Given the description of an element on the screen output the (x, y) to click on. 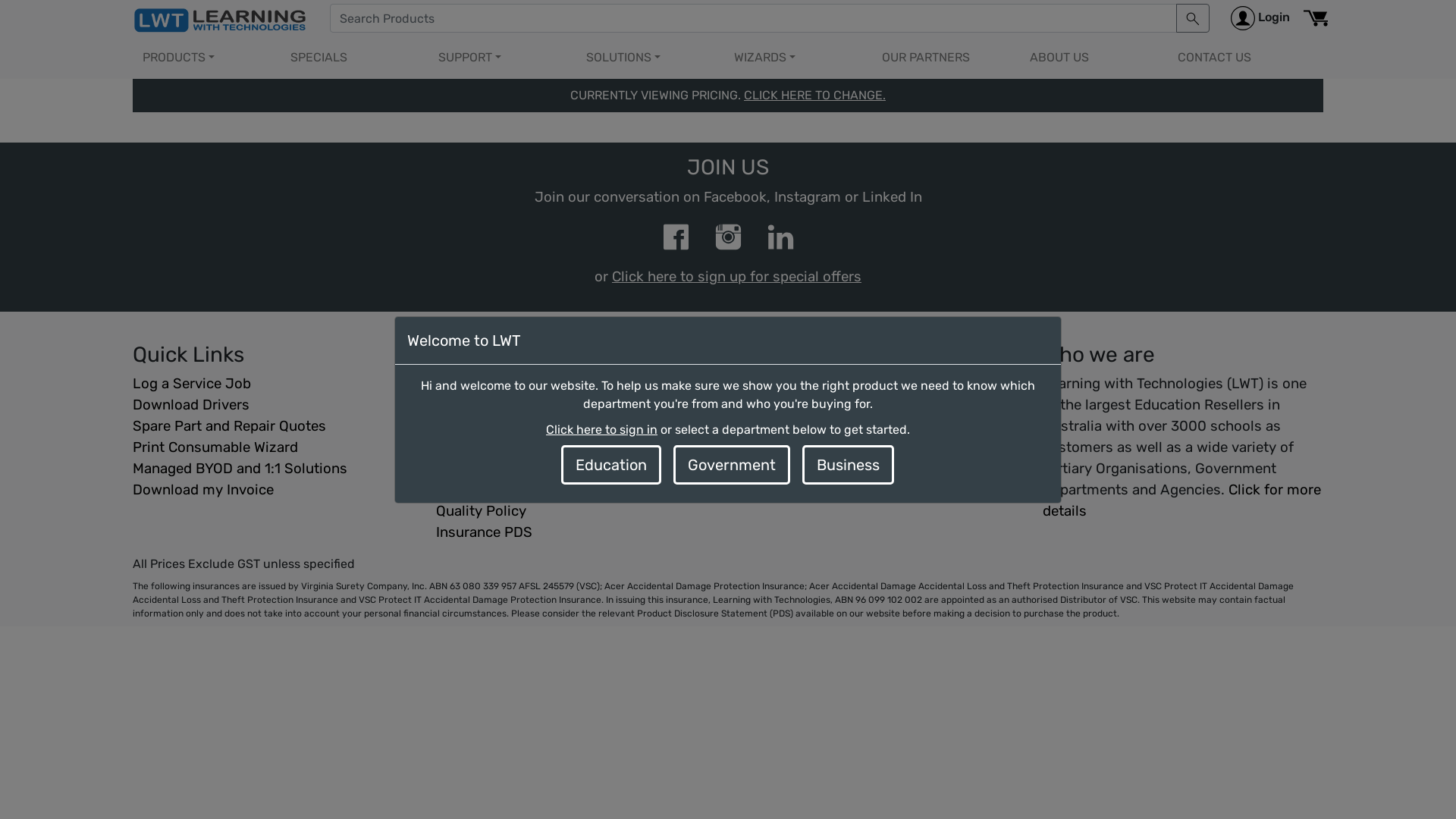
Government Element type: text (731, 463)
Download my Invoice Element type: text (272, 489)
Print Consumable Wizard Element type: text (272, 447)
OUR PARTNERS Element type: text (943, 57)
Insurance PDS Element type: text (576, 531)
WIZARDS Element type: text (795, 57)
Delivery Policy Element type: text (576, 425)
ABOUT US Element type: text (1091, 57)
SPECIALS Element type: text (352, 57)
Returns Policy Element type: text (576, 383)
Education Element type: text (611, 463)
Click for more details Element type: text (1181, 500)
CONTACT US Element type: text (1239, 57)
Spare Part and Repair Quotes Element type: text (272, 425)
Click here to sign up for special offers Element type: text (736, 276)
OHS Policy Element type: text (576, 468)
SOLUTIONS Element type: text (647, 57)
Click here to sign in Element type: text (601, 428)
Privacy Policy Element type: text (576, 447)
CURRENTLY VIEWING PRICING. CLICK HERE TO CHANGE. Element type: text (727, 95)
SUPPORT Element type: text (499, 57)
Managed BYOD and 1:1 Solutions Element type: text (272, 468)
Log a Service Job Element type: text (272, 383)
Quality Policy Element type: text (576, 510)
Login Element type: text (1260, 18)
PRODUCTS Element type: text (204, 57)
Download Drivers Element type: text (272, 404)
service@lwt.com.au Element type: text (881, 447)
Business Element type: text (848, 463)
sales@lwt.com.au Element type: text (874, 404)
Environmental Policy Element type: text (576, 489)
Terms of Sale Element type: text (576, 404)
